Given the description of an element on the screen output the (x, y) to click on. 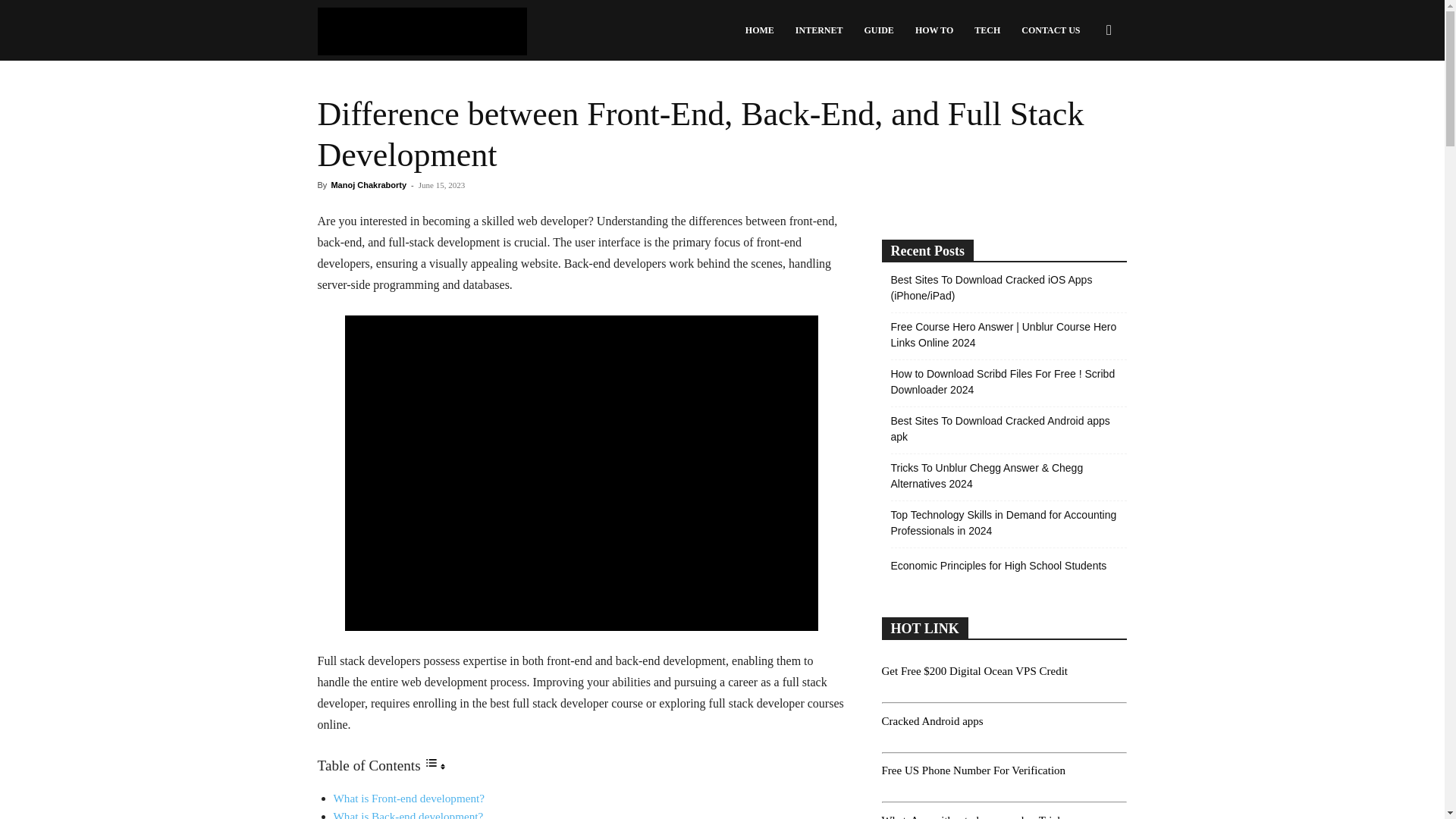
What is Front-end development? (408, 797)
HOW TO (933, 30)
TechPanga (421, 30)
INTERNET (818, 30)
What is Back-end development? (408, 814)
What is Front-end development? (408, 797)
What is Back-end development? (408, 814)
Search (1085, 102)
CONTACT US (1050, 30)
Manoj Chakraborty (368, 184)
